Given the description of an element on the screen output the (x, y) to click on. 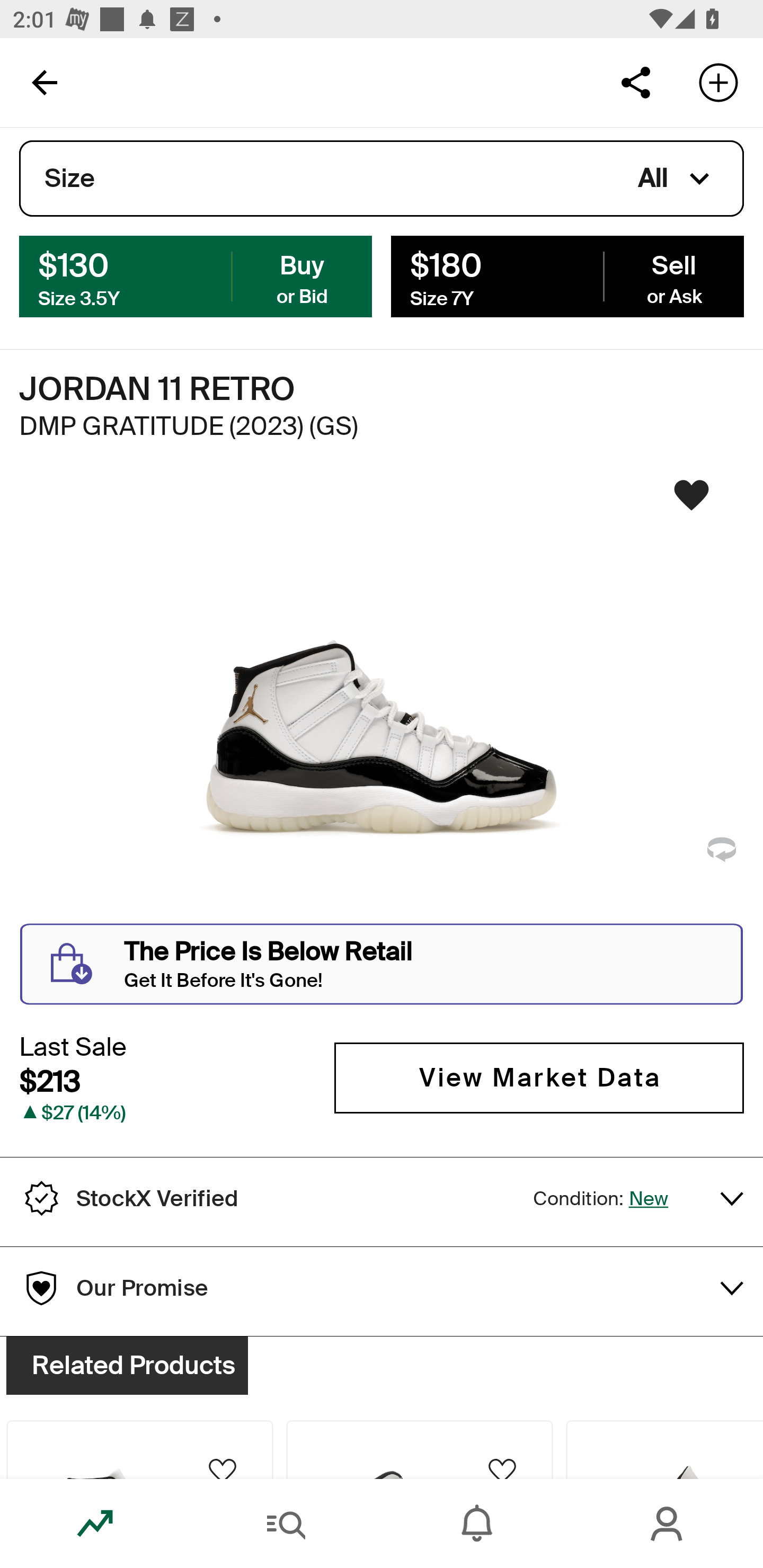
Share (635, 81)
Add (718, 81)
Size All (381, 178)
$130 Buy Size 3.5Y or Bid (195, 275)
$180 Sell Size 7Y or Ask (566, 275)
Sneaker Image (381, 699)
View Market Data (538, 1077)
Search (285, 1523)
Inbox (476, 1523)
Account (667, 1523)
